Given the description of an element on the screen output the (x, y) to click on. 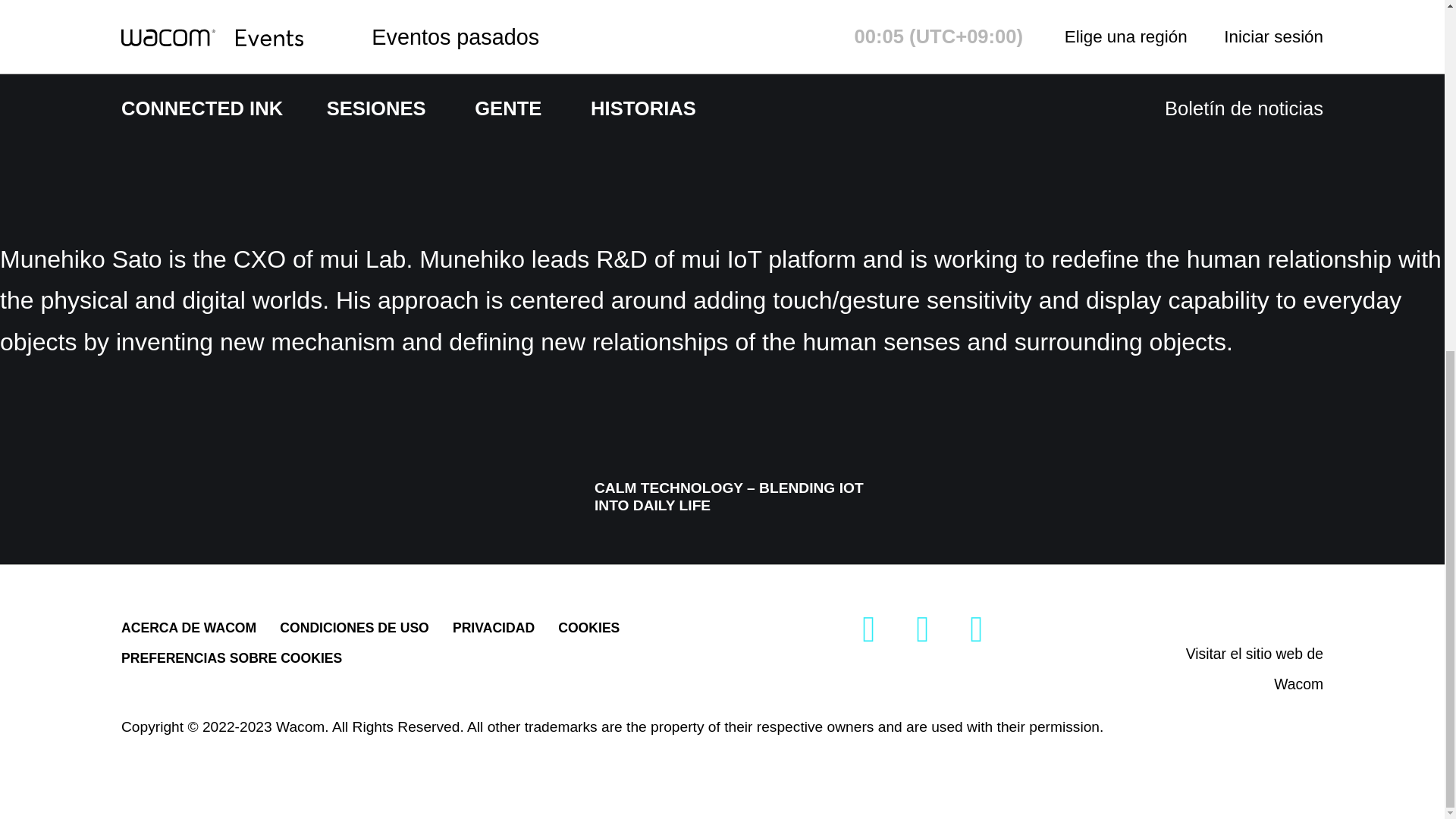
Wacom en Facebook (922, 634)
Visitar el sitio web de Wacom (1254, 668)
Wacom en Twitter (868, 634)
Wacom en LinkedIn (976, 634)
